Given the description of an element on the screen output the (x, y) to click on. 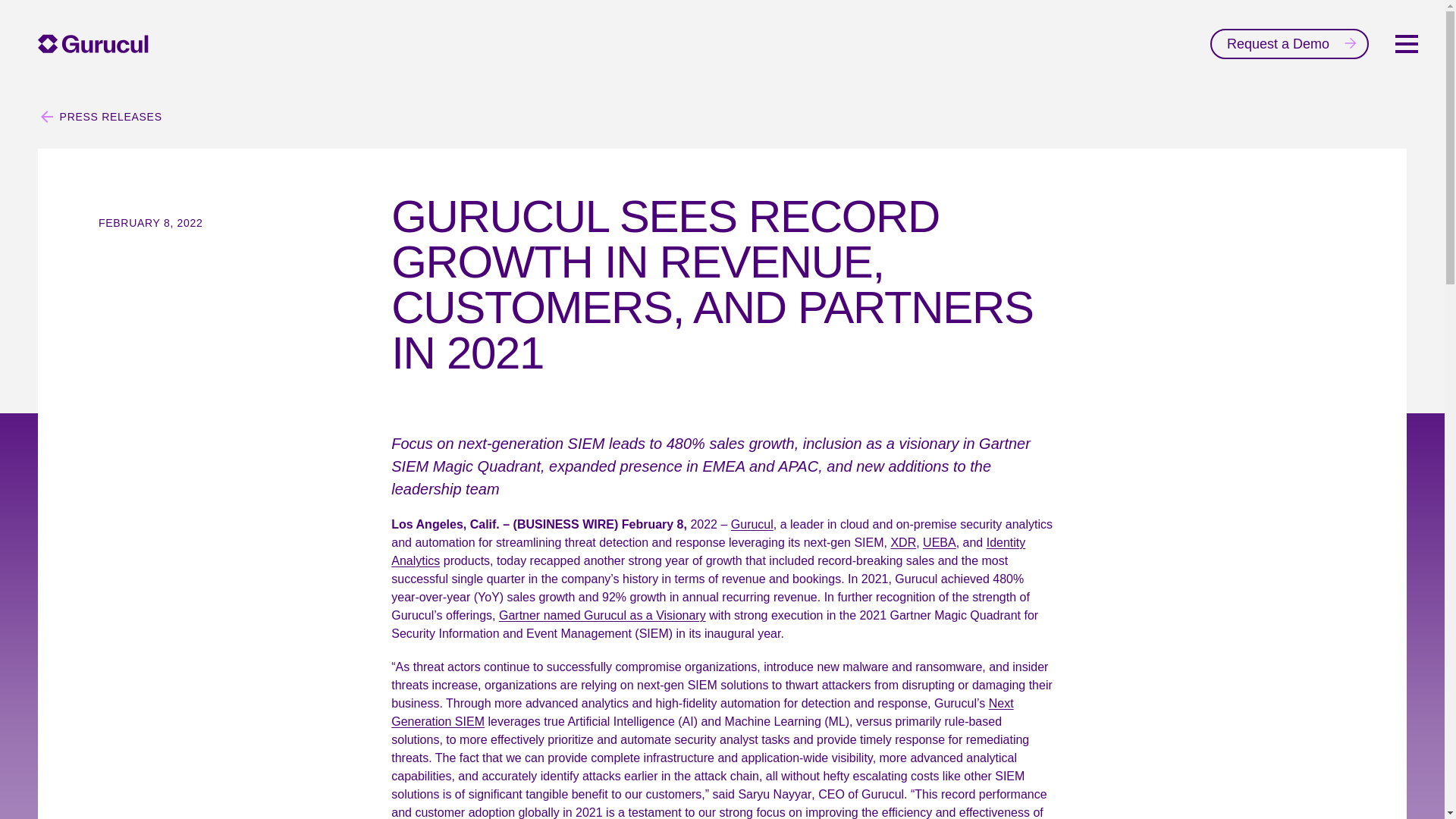
PRESS RELEASES (99, 116)
Request a Demo (1288, 43)
